Given the description of an element on the screen output the (x, y) to click on. 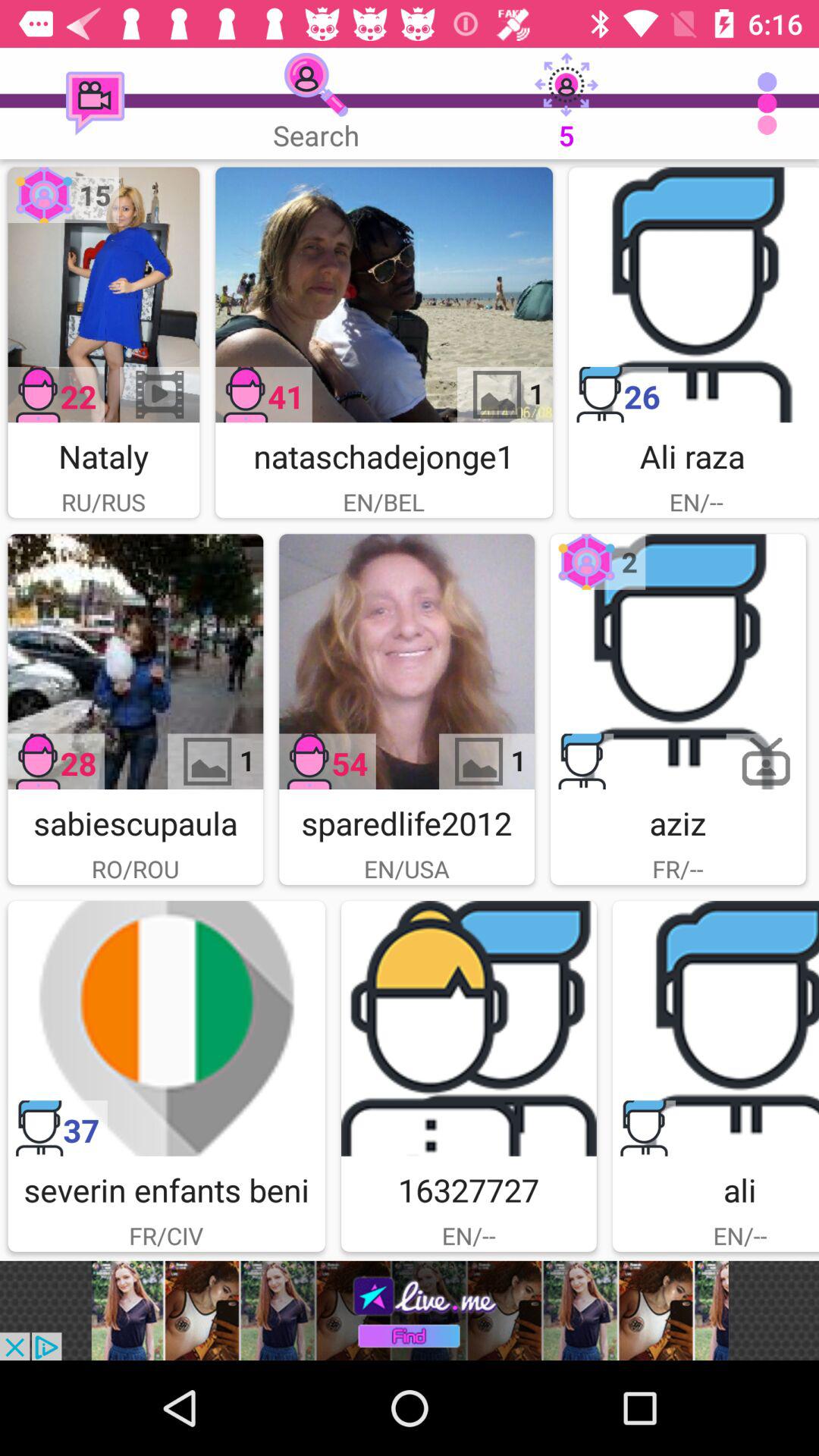
nataschadejonge pick (383, 294)
